Given the description of an element on the screen output the (x, y) to click on. 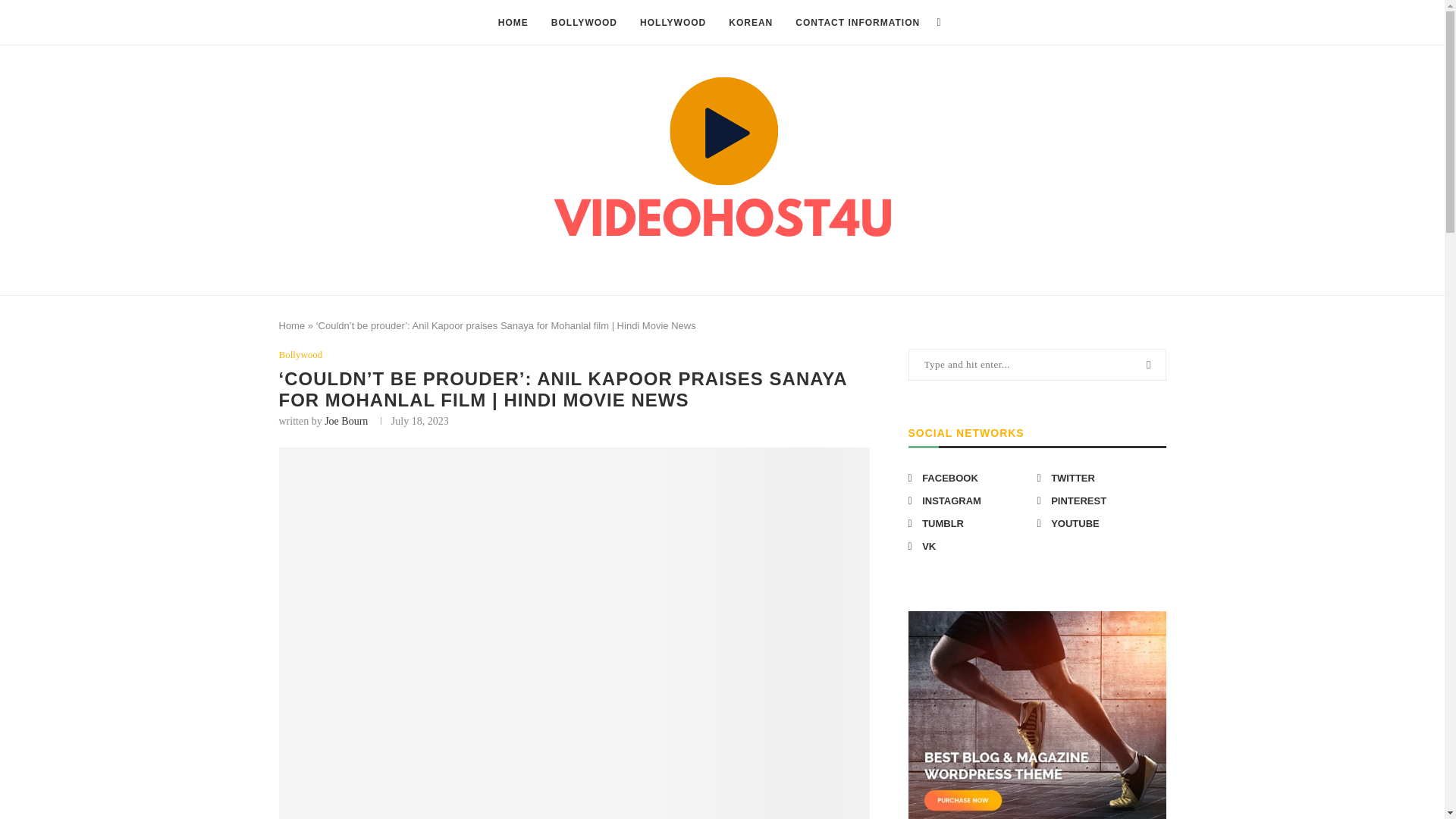
Home (292, 325)
CONTACT INFORMATION (857, 22)
HOLLYWOOD (673, 22)
KOREAN (751, 22)
Bollywood (301, 354)
BOLLYWOOD (584, 22)
Joe Bourn (346, 420)
